Given the description of an element on the screen output the (x, y) to click on. 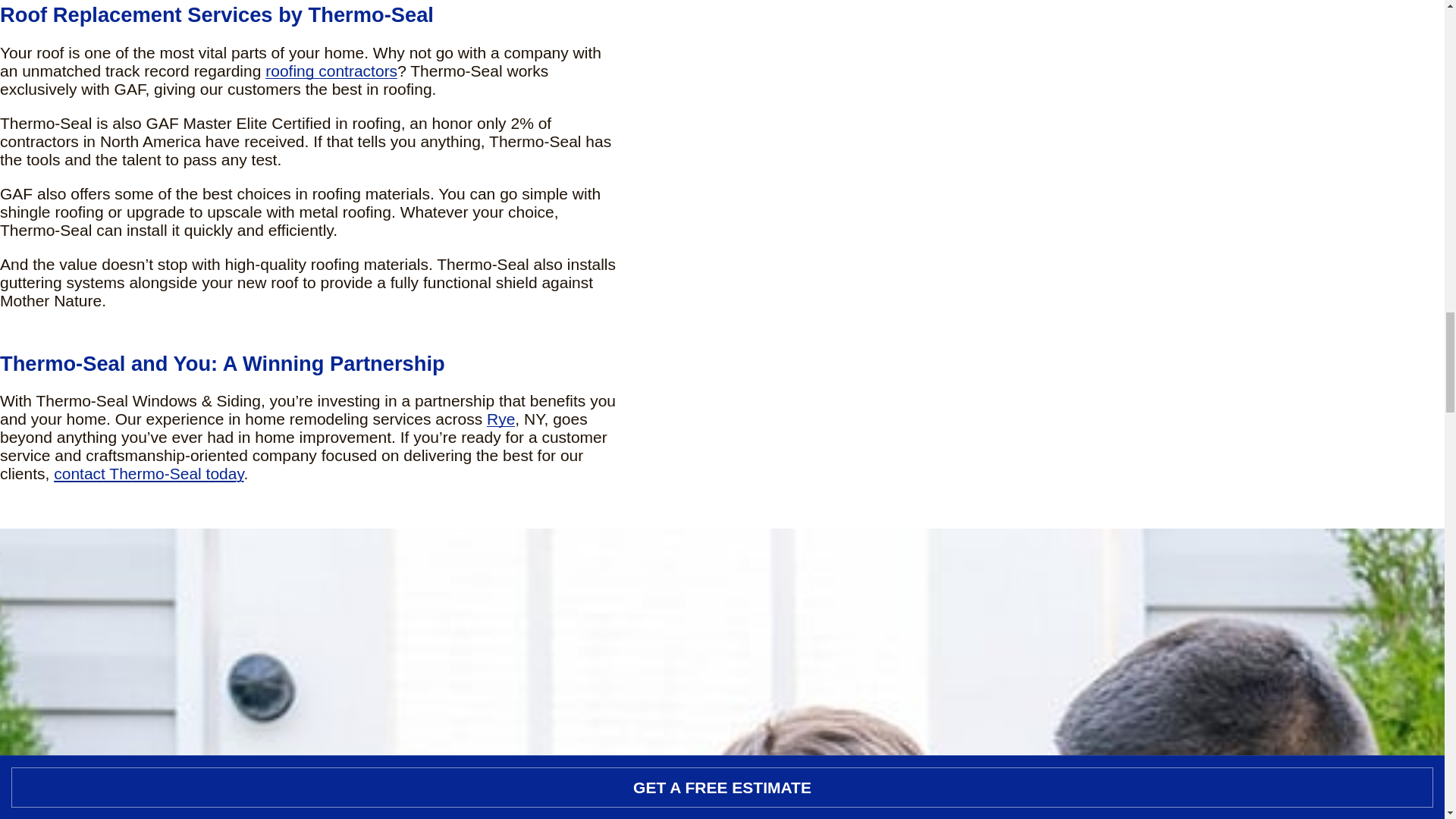
roofing contractors (330, 70)
Rye (500, 418)
contact Thermo-Seal today (148, 473)
